Given the description of an element on the screen output the (x, y) to click on. 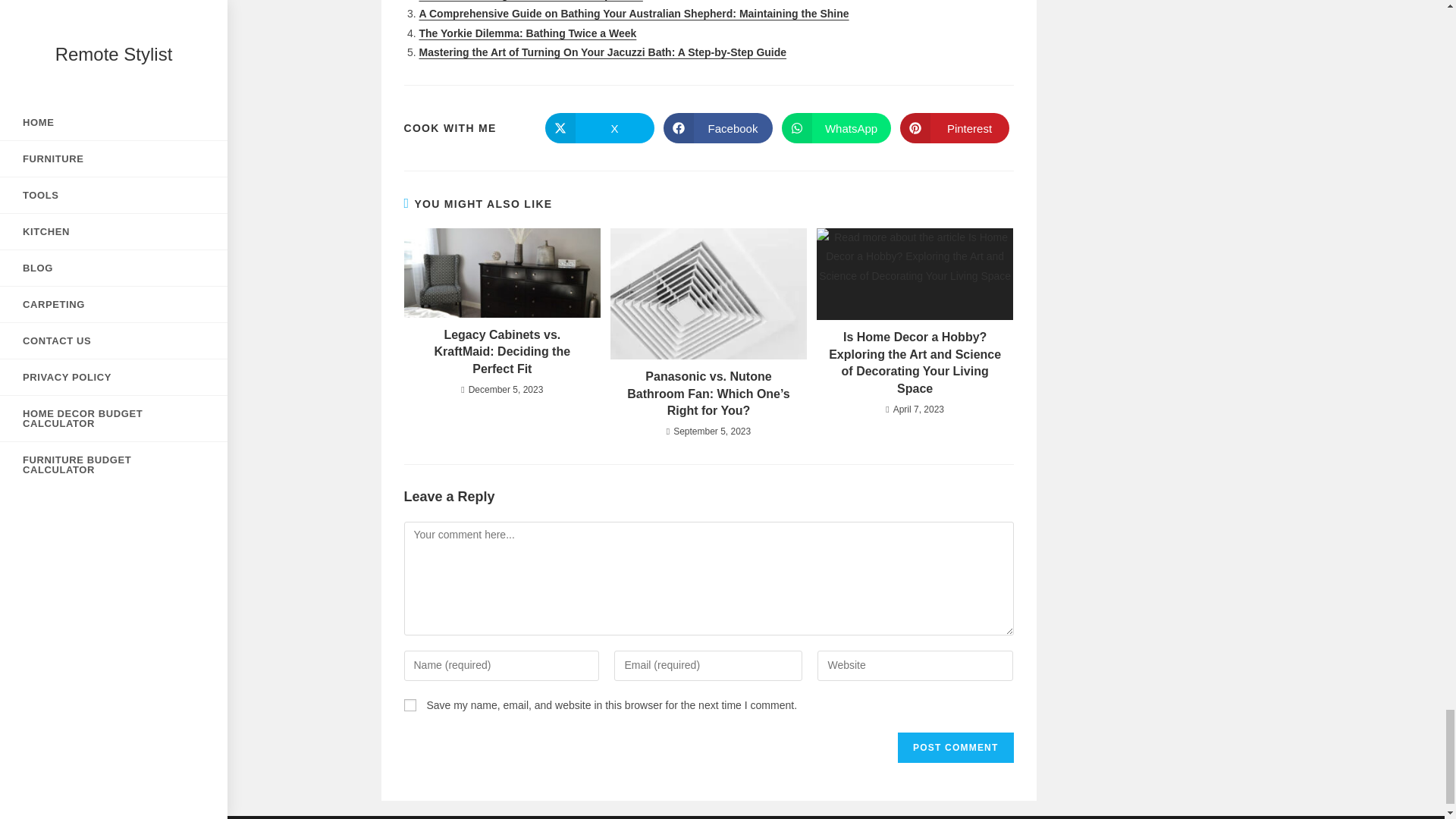
Post Comment (955, 747)
yes (408, 705)
